Given the description of an element on the screen output the (x, y) to click on. 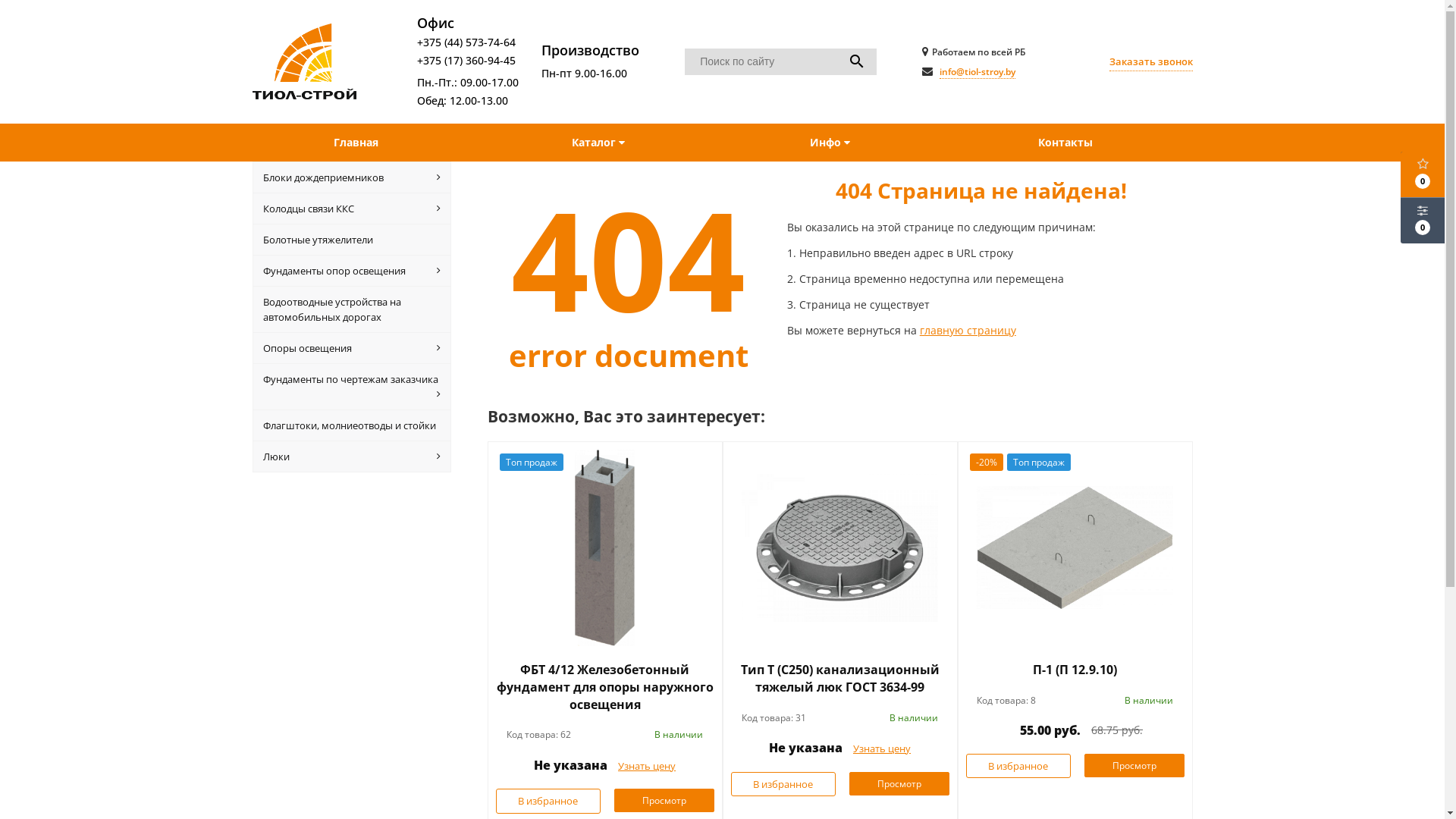
+375 (17) 360-94-45 Element type: text (466, 60)
0 Element type: text (1422, 220)
search Element type: text (856, 61)
+375 (44) 573-74-64 Element type: text (466, 42)
0 Element type: text (1422, 174)
info@tiol-stroy.by Element type: text (976, 71)
